Given the description of an element on the screen output the (x, y) to click on. 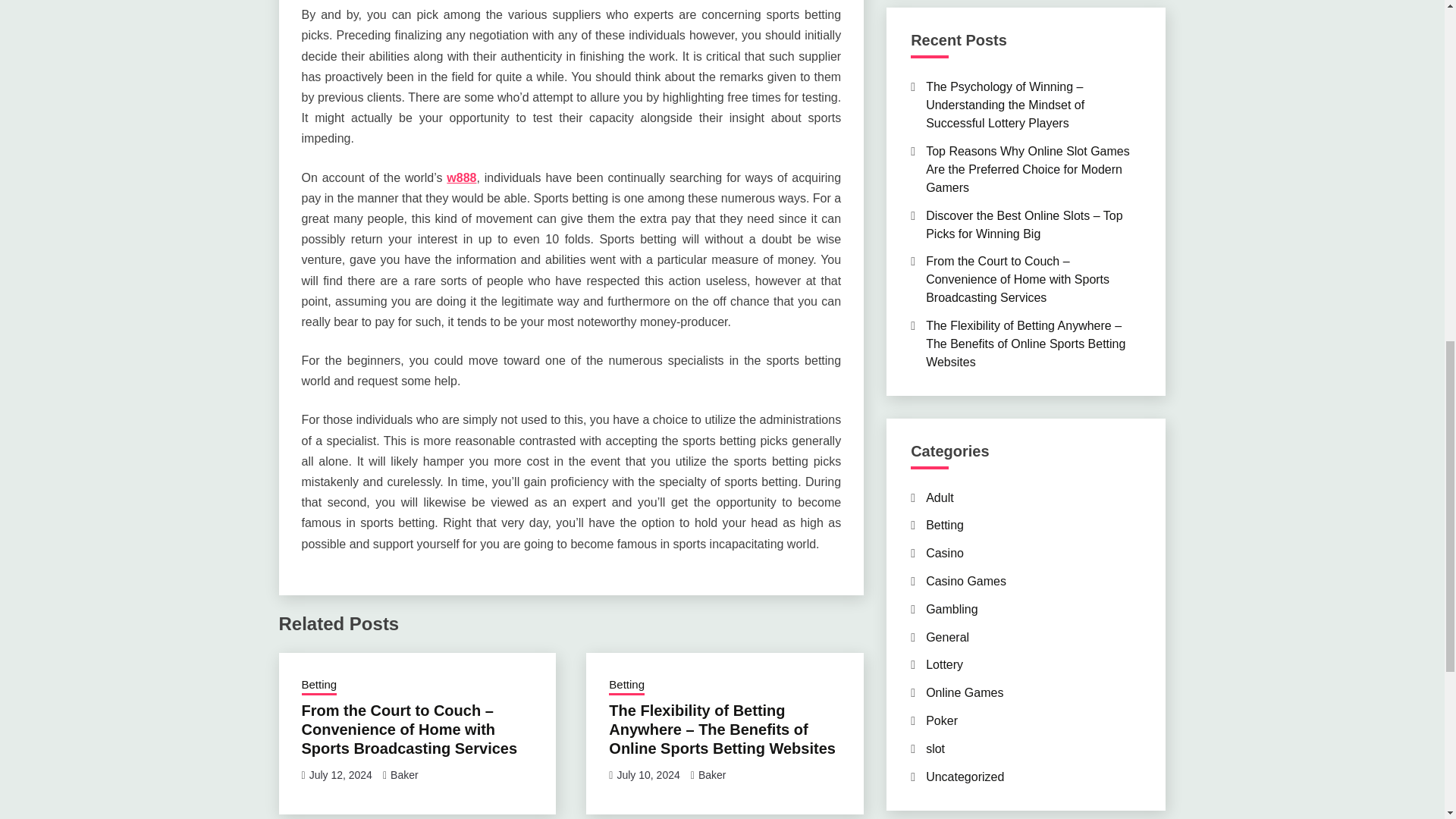
Baker (712, 775)
Betting (319, 686)
Adult (939, 497)
July 12, 2024 (340, 775)
w888 (461, 177)
Betting (626, 686)
Casino Games (966, 581)
Baker (404, 775)
July 10, 2024 (647, 775)
Betting (944, 524)
